Given the description of an element on the screen output the (x, y) to click on. 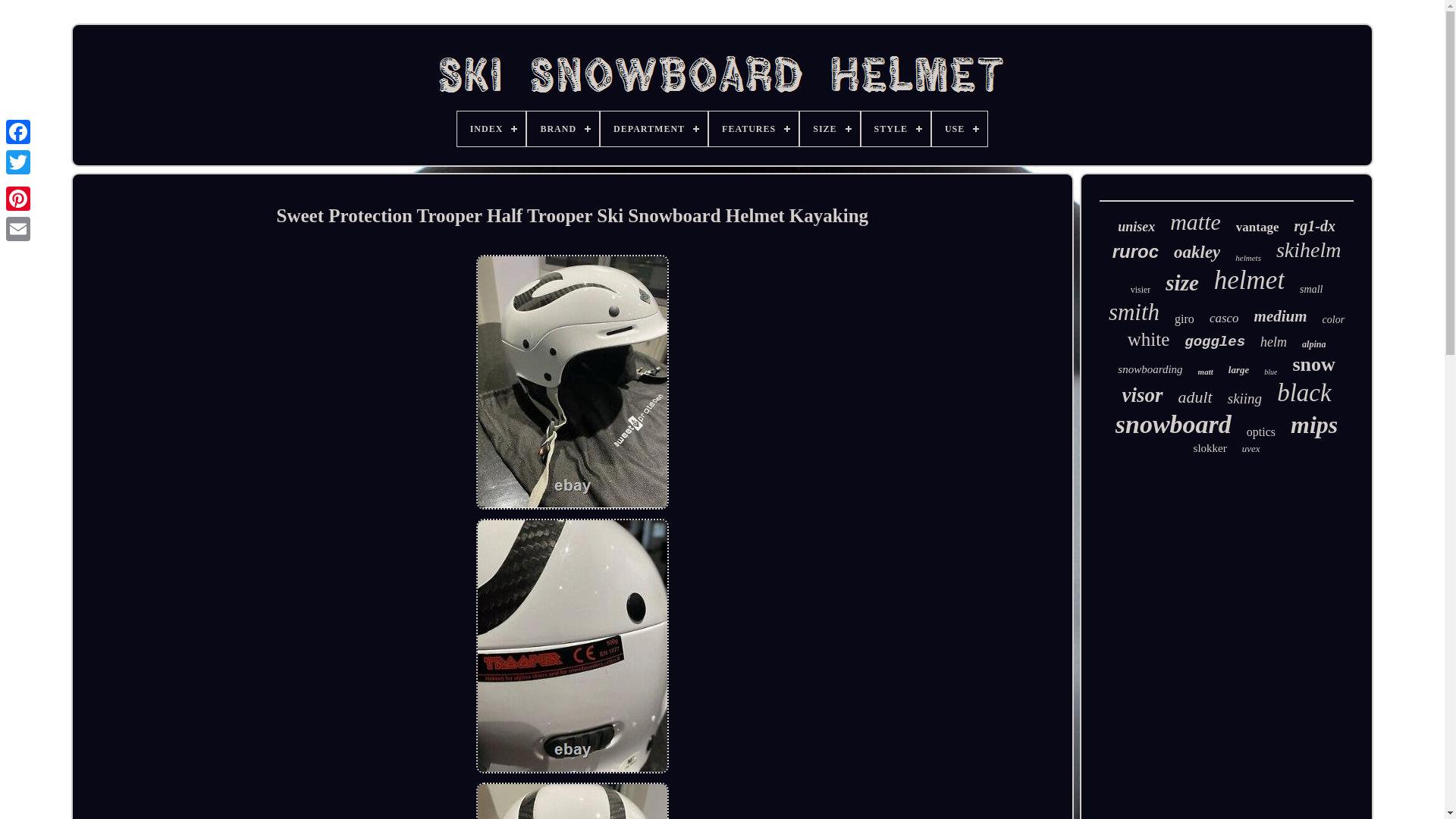
DEPARTMENT (653, 128)
INDEX (491, 128)
BRAND (562, 128)
